Given the description of an element on the screen output the (x, y) to click on. 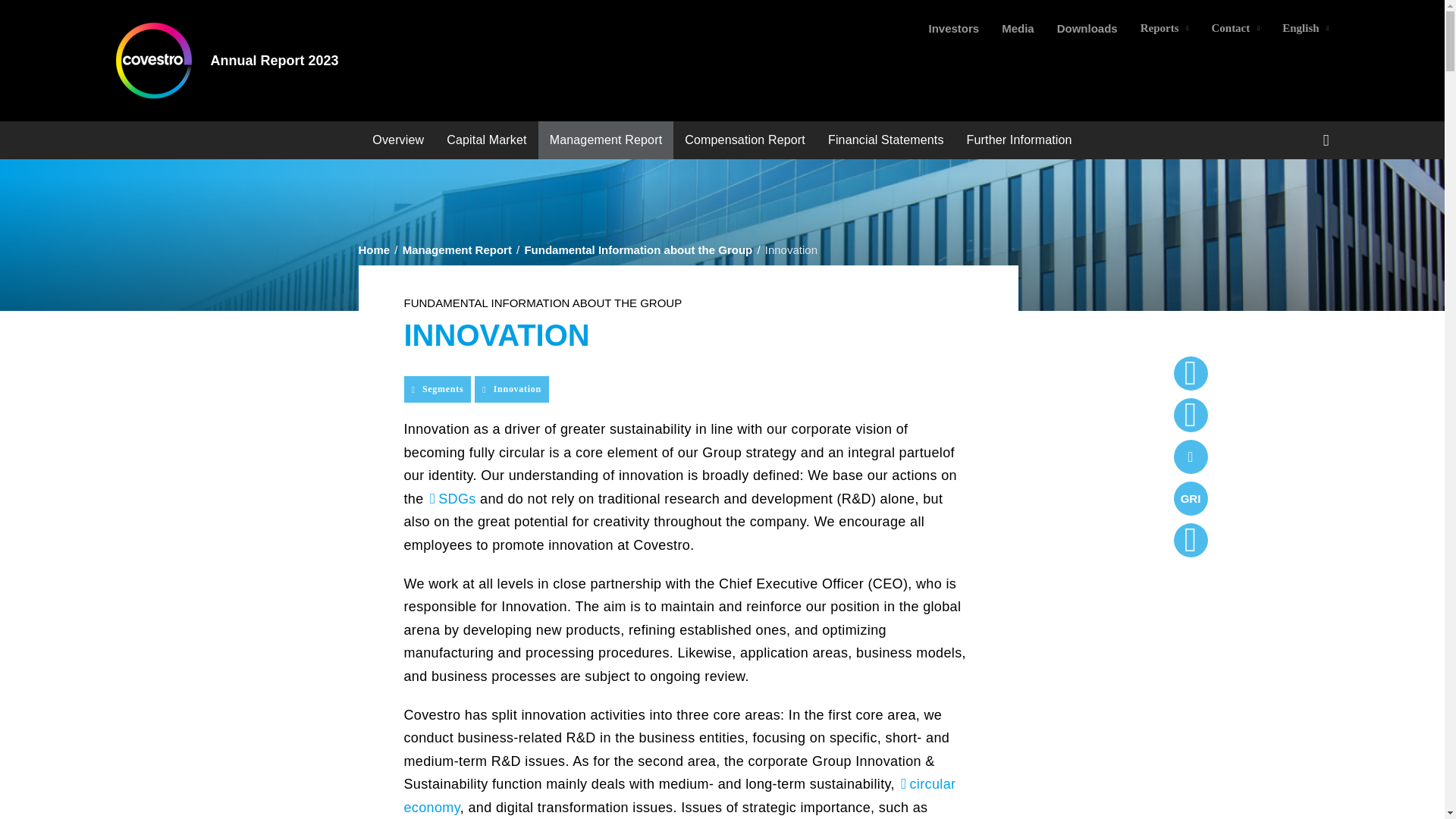
Downloads (1087, 28)
Annual Report 2023 (275, 60)
Media (1017, 28)
English (1304, 28)
Investors (953, 28)
Reports (1164, 28)
Contact (1235, 28)
